Given the description of an element on the screen output the (x, y) to click on. 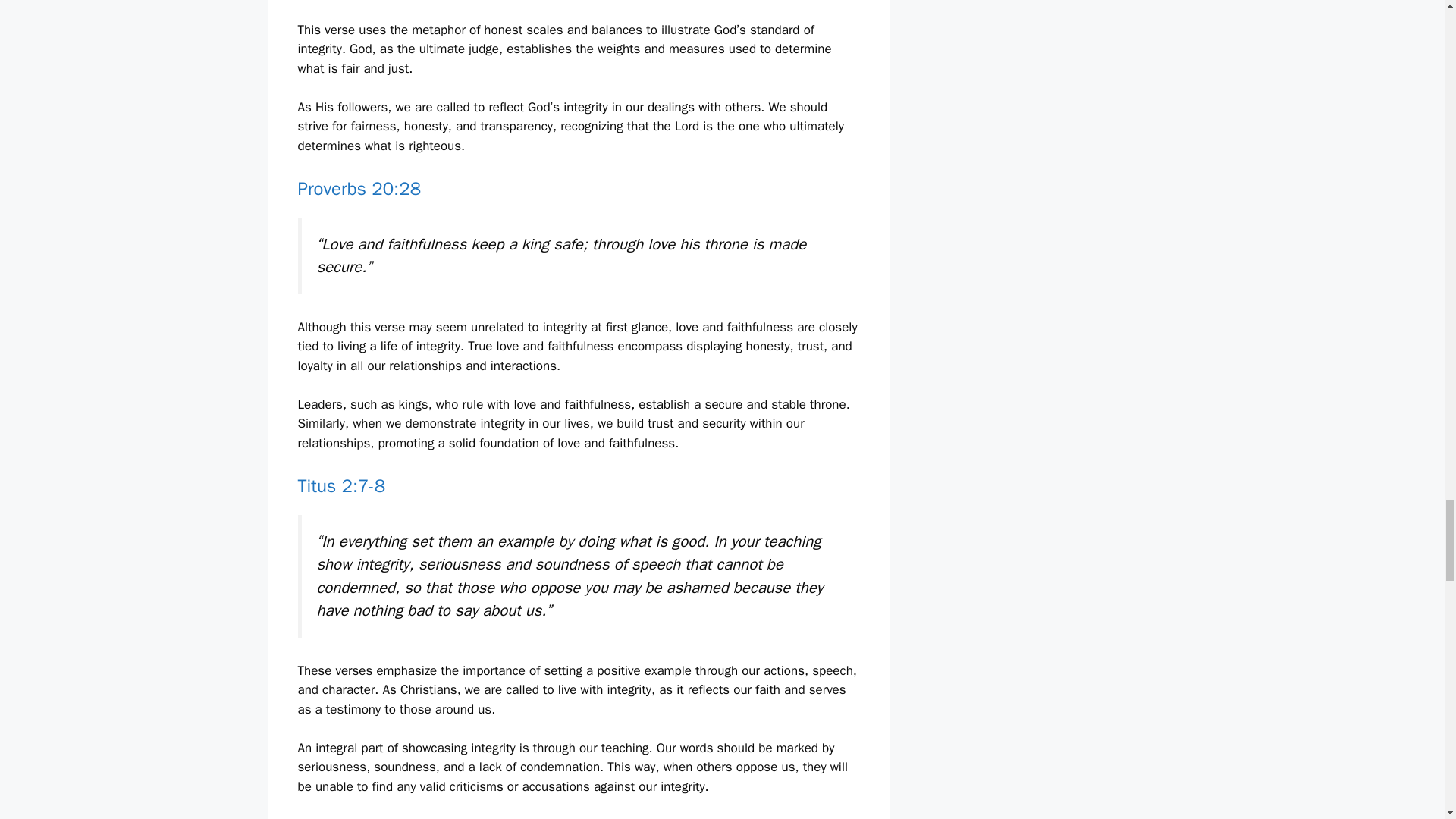
Proverbs 20:28 (358, 188)
Titus 2:7-8 (341, 486)
